Given the description of an element on the screen output the (x, y) to click on. 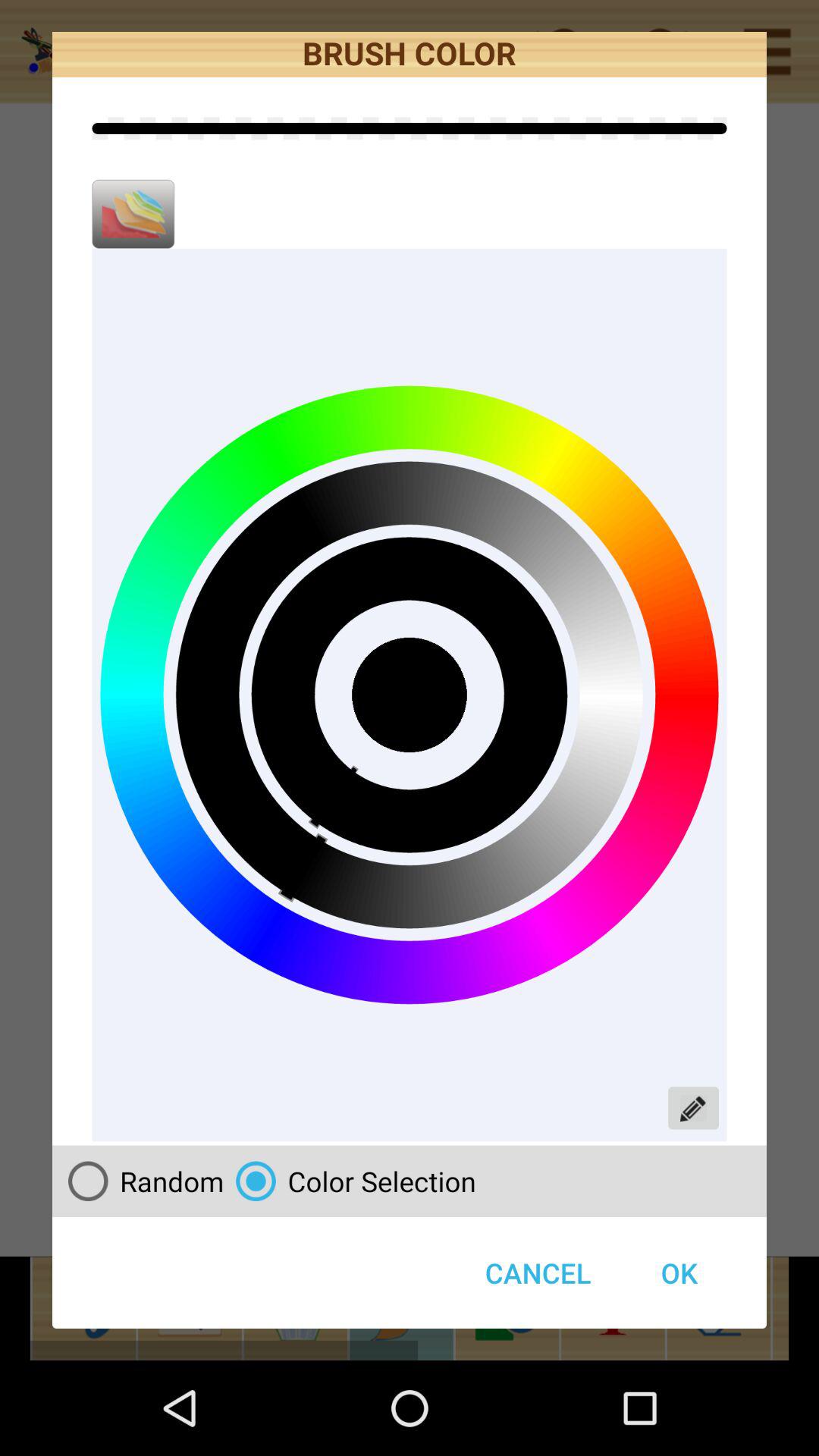
open the random icon (140, 1181)
